Given the description of an element on the screen output the (x, y) to click on. 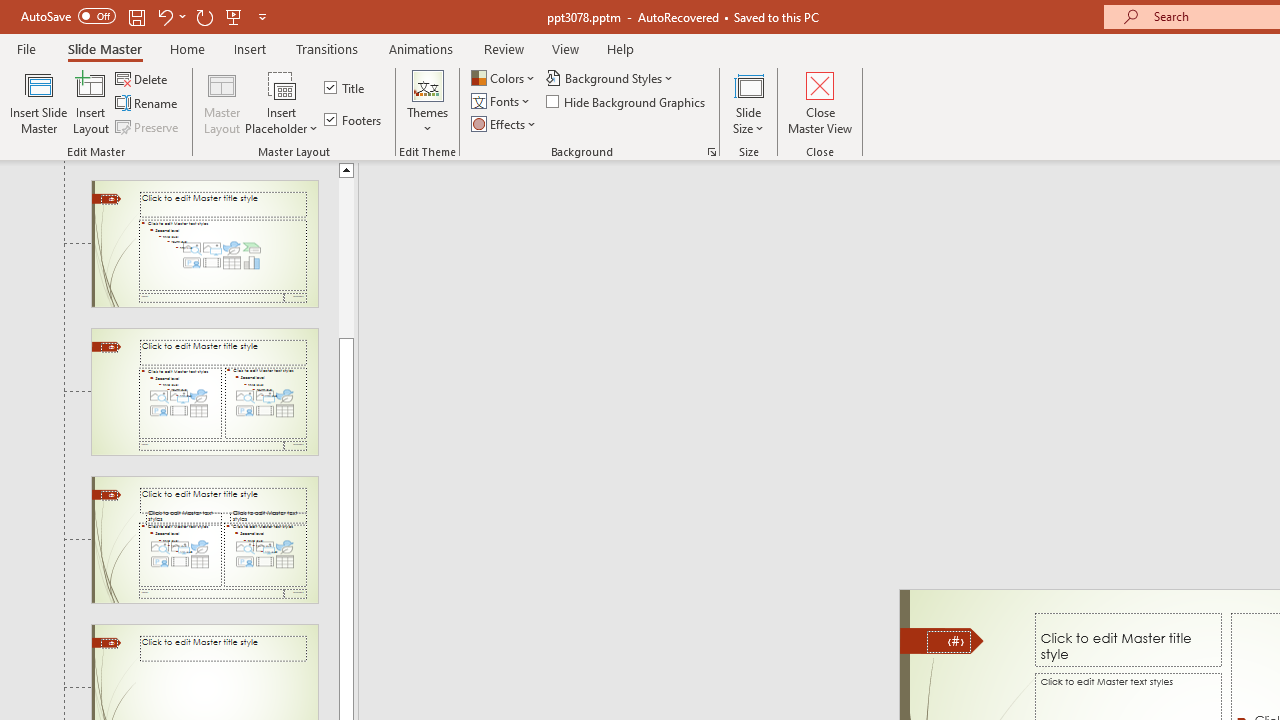
Slide Size (749, 102)
Slide Number (948, 641)
Slide Master (104, 48)
Insert Slide Master (38, 102)
Preserve (148, 126)
Background Styles (610, 78)
Close Master View (820, 102)
Format Background... (711, 151)
Effects (505, 124)
